Given the description of an element on the screen output the (x, y) to click on. 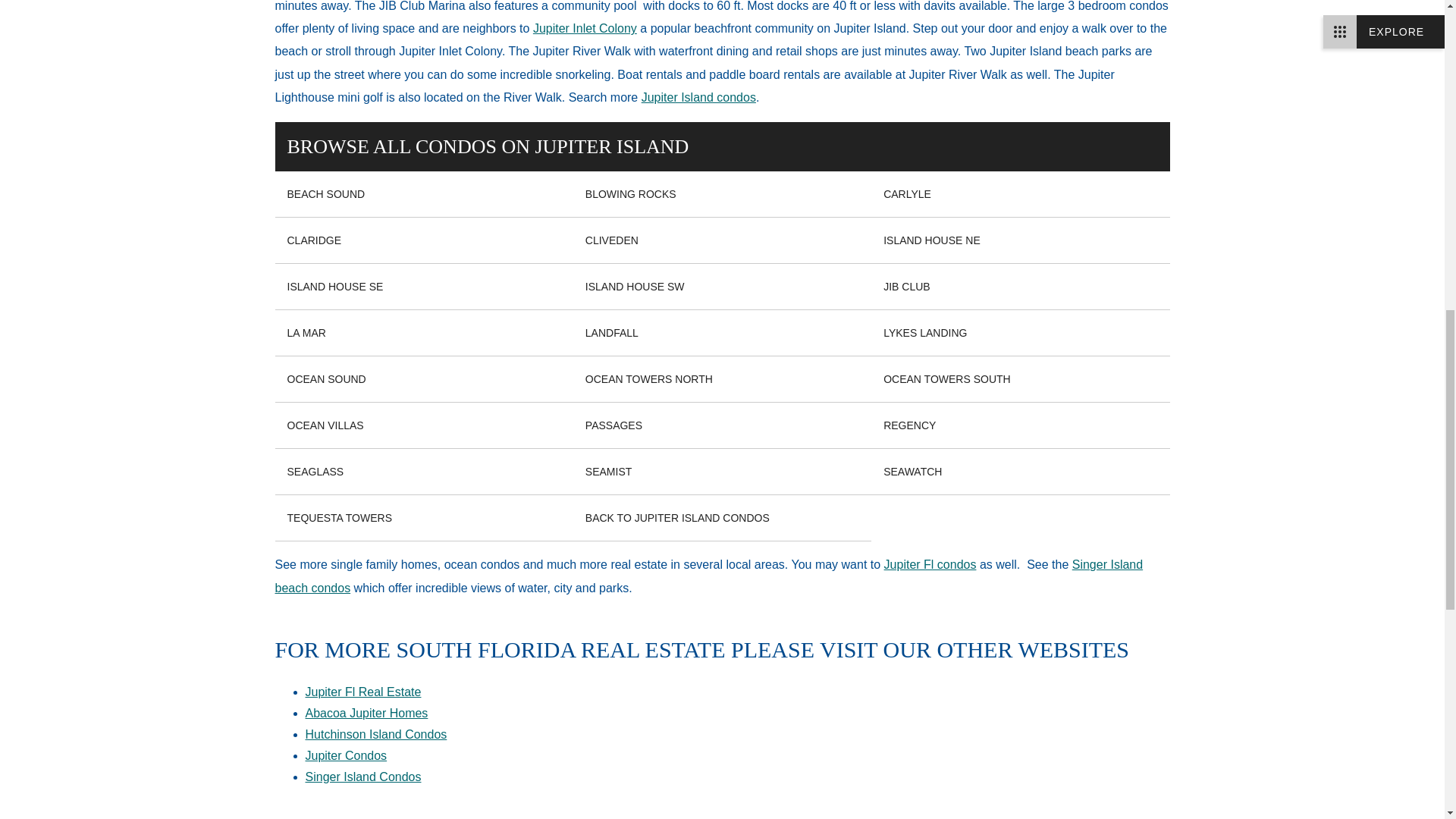
Jupiter Island Condos (698, 97)
Jupiter Real Estate for sale (362, 691)
Abacoa Homes Jupiter (366, 712)
Singer Island Condos (362, 776)
Jupiter Condos (345, 755)
Hutchinson Island Condos  (375, 734)
Jupiter Inlet Colony (584, 28)
Jupiter Condos (929, 563)
Singer Island Condos (708, 575)
